Given the description of an element on the screen output the (x, y) to click on. 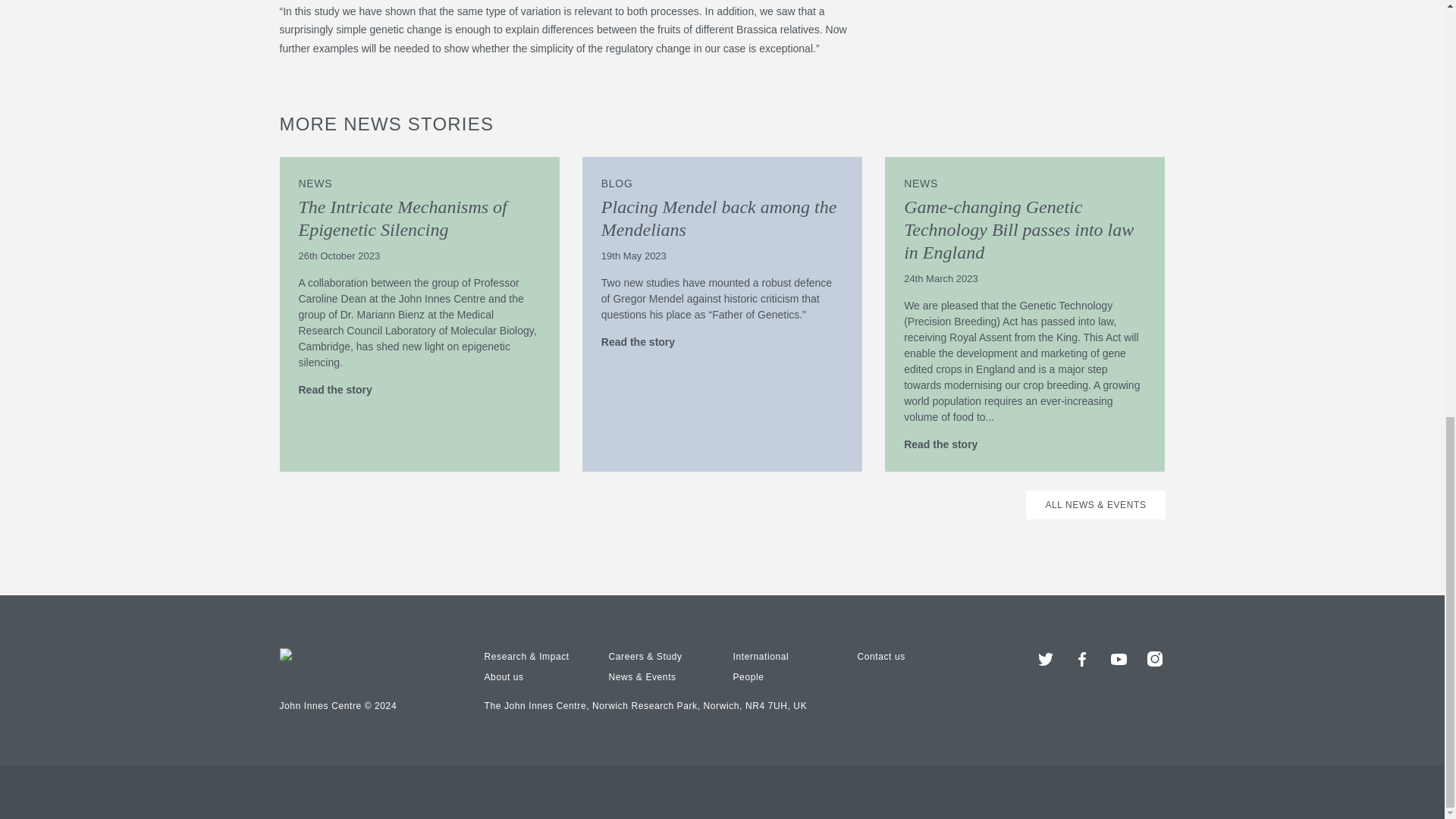
People (747, 676)
Read the story (645, 342)
Read the story (948, 443)
International (760, 656)
About us (502, 676)
The Intricate Mechanisms of Epigenetic Silencing (402, 218)
Contact us (880, 656)
Read the story (342, 389)
Placing Mendel back among the Mendelians (719, 218)
